Given the description of an element on the screen output the (x, y) to click on. 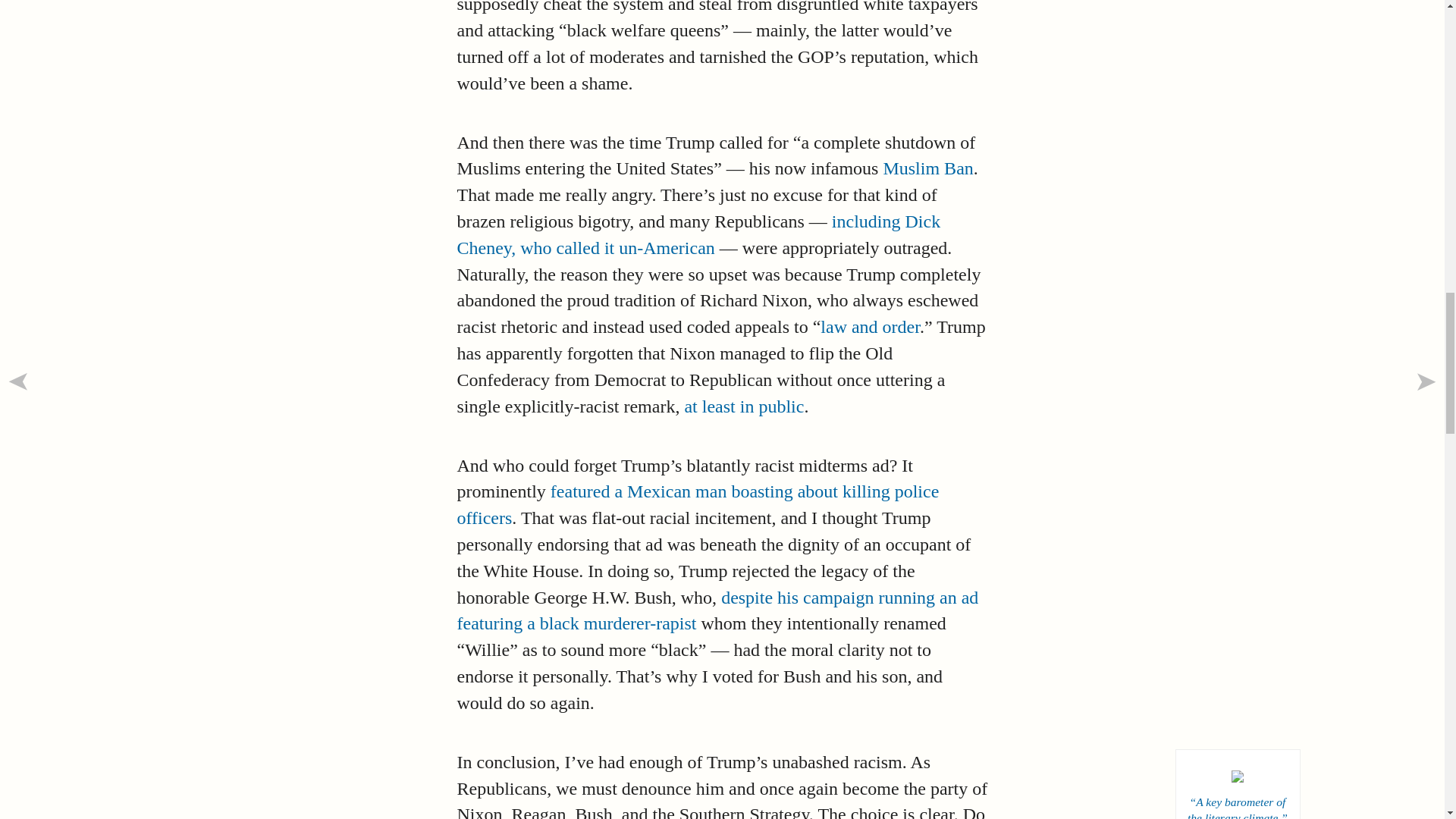
including Dick Cheney, who called it un-American (698, 234)
law and order (870, 326)
Muslim Ban (927, 168)
at least in public (743, 406)
